Given the description of an element on the screen output the (x, y) to click on. 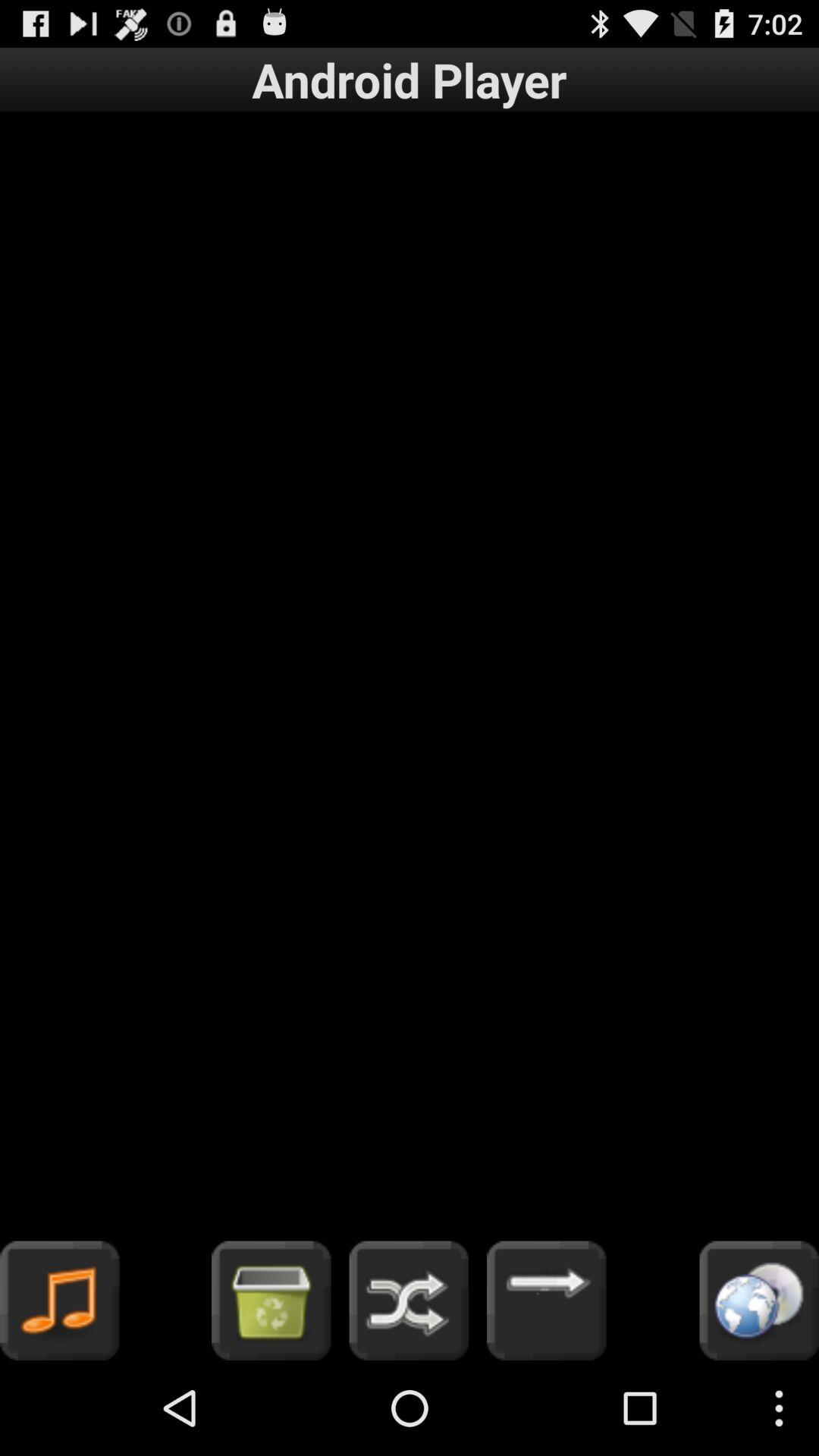
turn on icon below the android player item (409, 676)
